Given the description of an element on the screen output the (x, y) to click on. 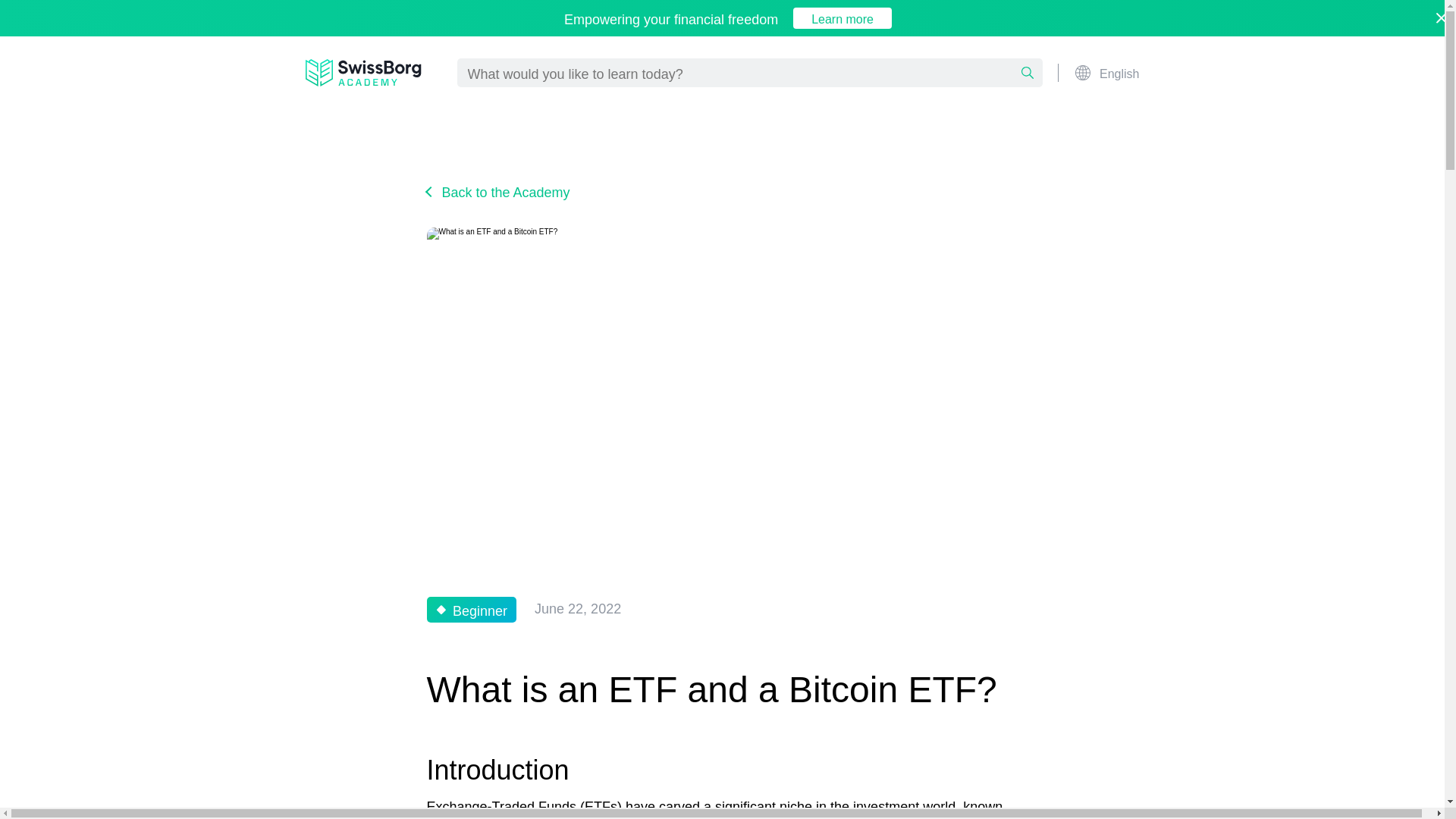
Learn more (842, 17)
English (1106, 72)
Back to the Academy (497, 191)
